Given the description of an element on the screen output the (x, y) to click on. 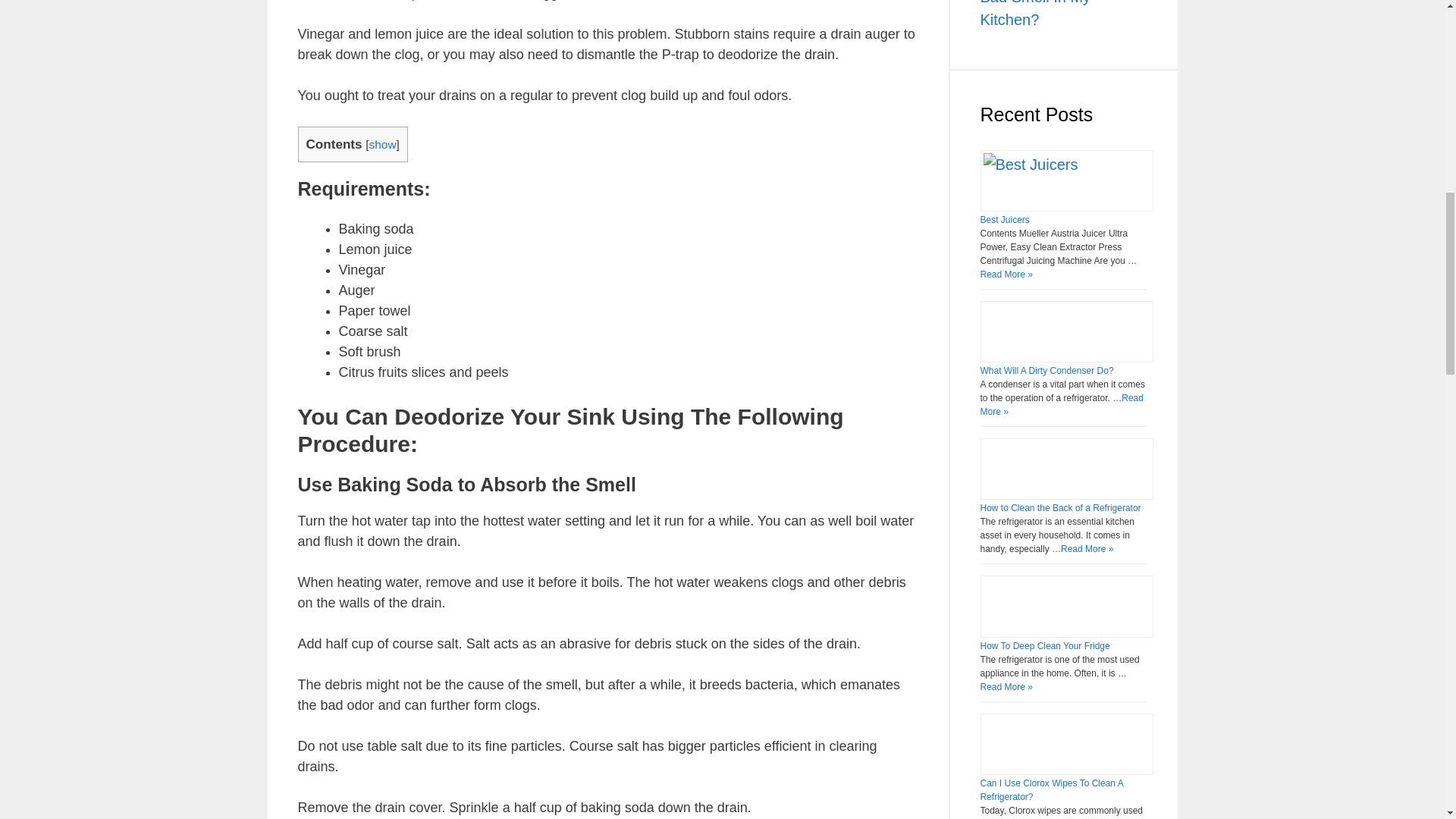
How Do I Get Rid Of A Bad Smell In My Kitchen? (1055, 13)
show (382, 144)
How To Deep Clean Your Fridge (1044, 645)
What Will A Dirty Condenser Do? (1046, 370)
Best Juicers (1004, 219)
How to Clean the Back of a Refrigerator (1059, 507)
Can I Use Clorox Wipes To Clean A Refrigerator? (1050, 790)
